Given the description of an element on the screen output the (x, y) to click on. 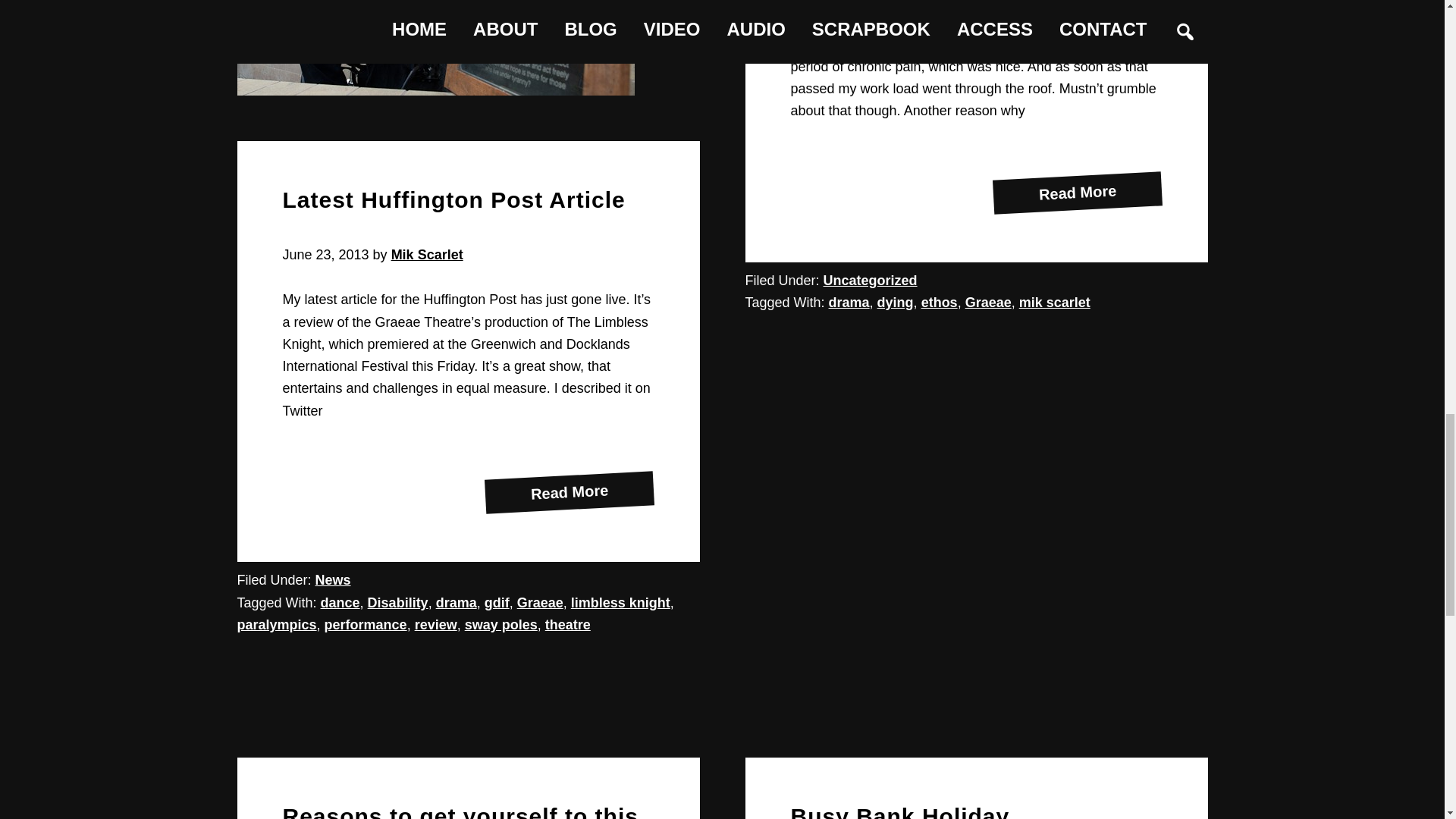
Mik Scarlet (427, 254)
Latest Huffington Post Article (453, 199)
